Given the description of an element on the screen output the (x, y) to click on. 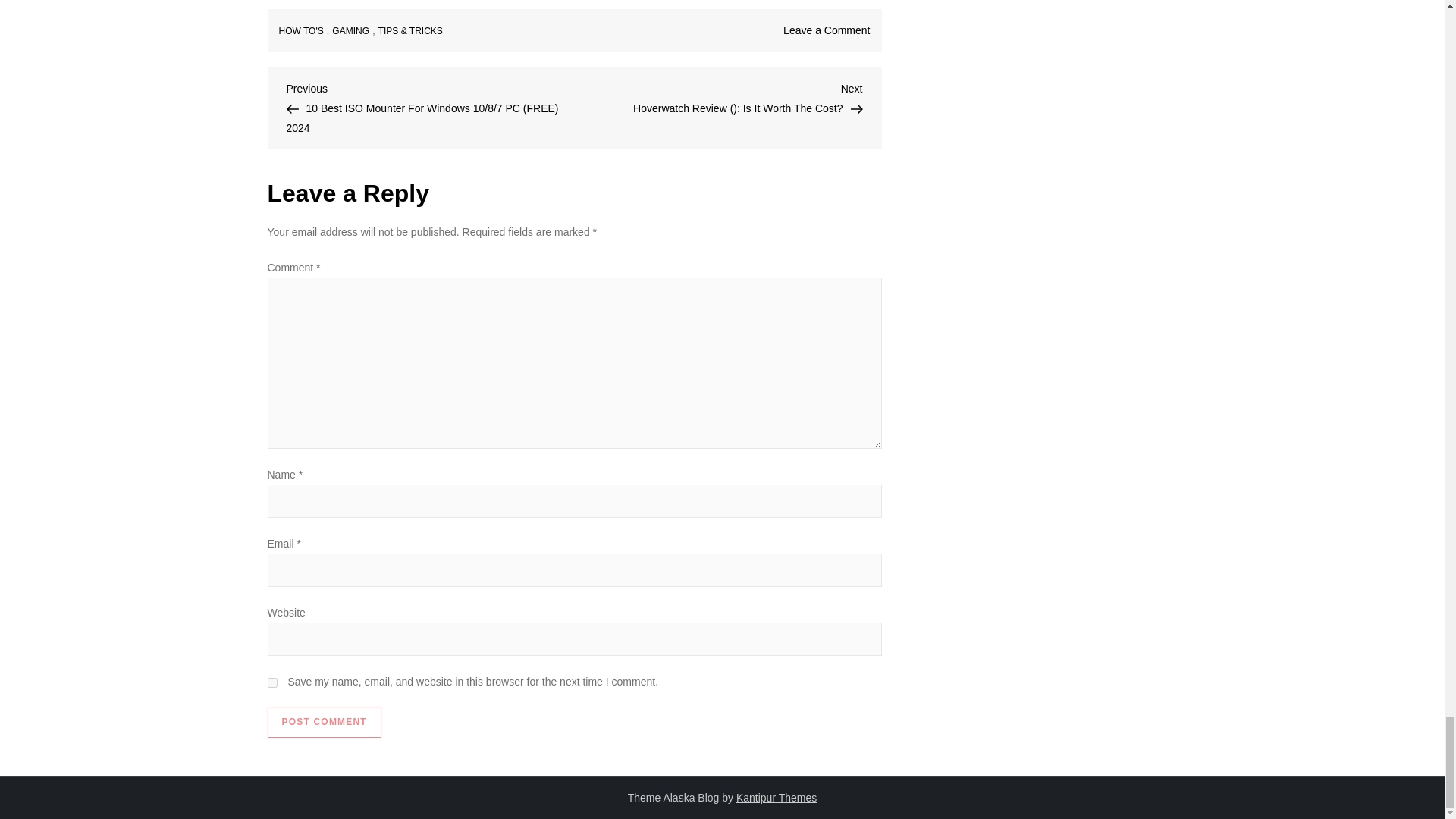
yes (271, 682)
Post Comment (323, 722)
